Given the description of an element on the screen output the (x, y) to click on. 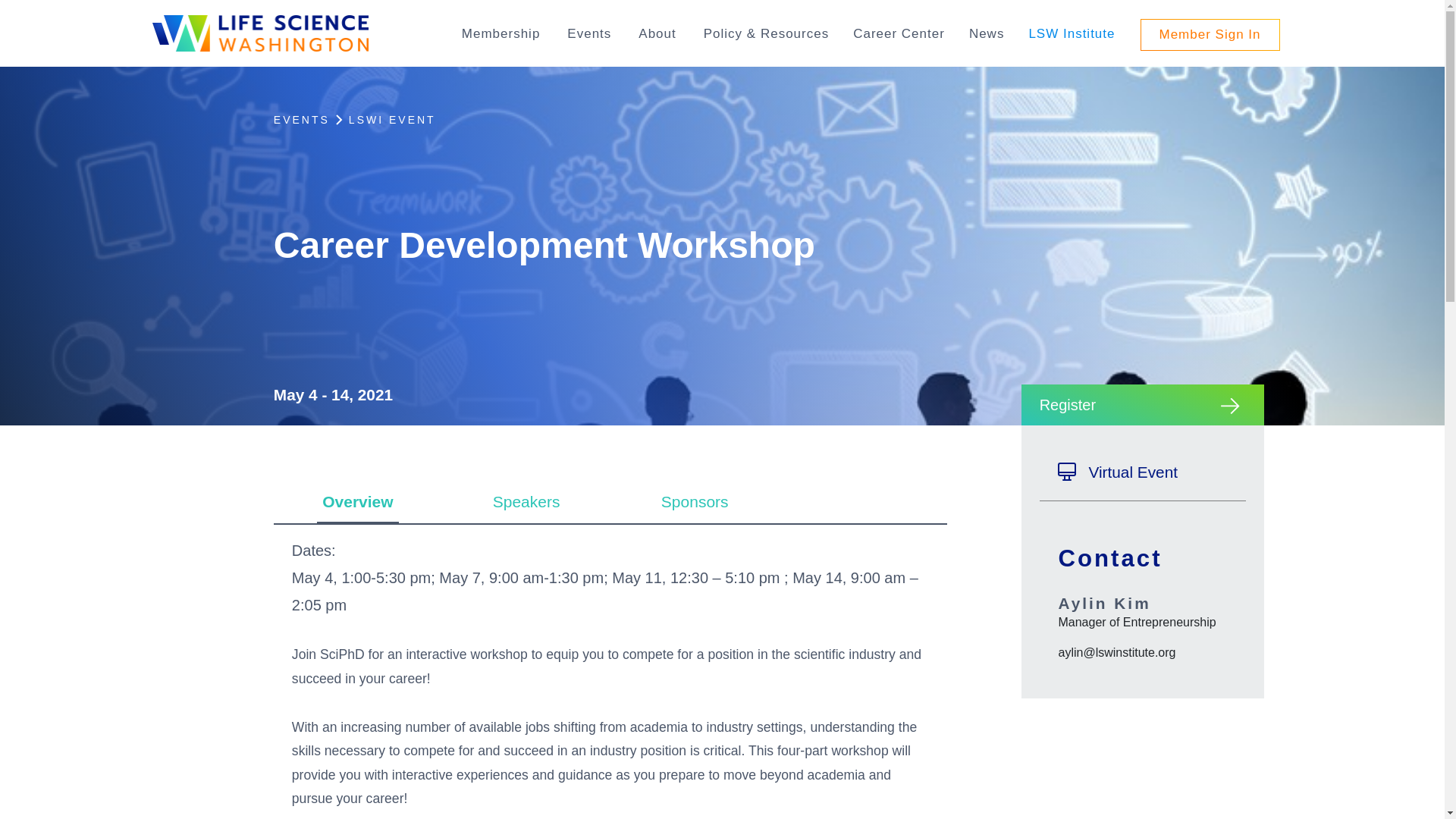
EVENTS (301, 119)
Register (1142, 404)
Sponsors (694, 501)
LSW Institute (1071, 33)
Career Center (898, 33)
About (657, 33)
Events (589, 33)
News (986, 33)
Overview (357, 501)
Membership (500, 33)
Member Sign In (1209, 34)
Membership (500, 33)
About (657, 33)
Events (589, 33)
Speakers (526, 501)
